Given the description of an element on the screen output the (x, y) to click on. 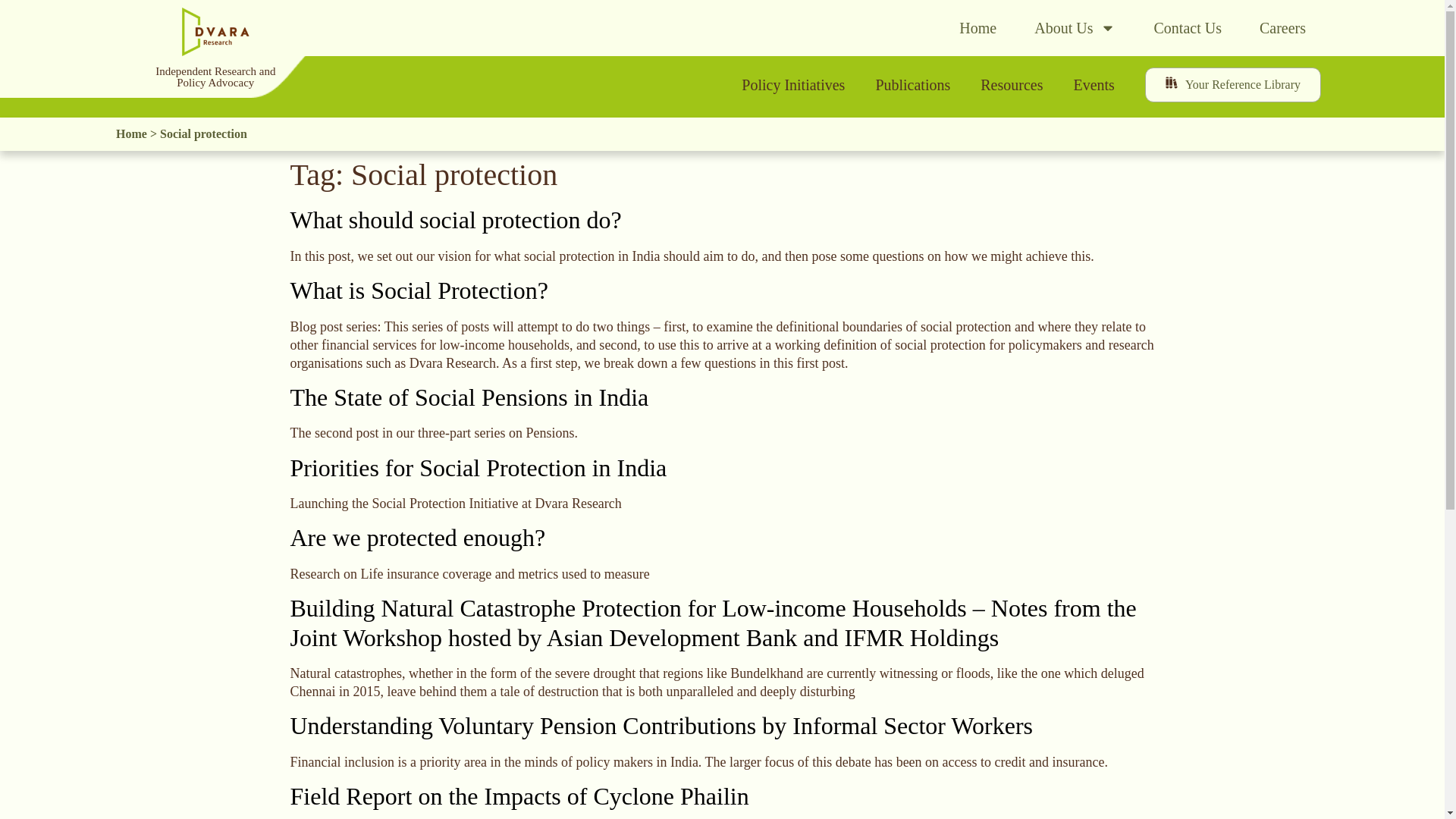
Independent Research and Policy Advocacy (215, 76)
Home (977, 27)
Careers (1282, 27)
Policy Initiatives (793, 84)
About Us (1075, 27)
Events (1093, 84)
Resources (1011, 84)
Publications (912, 84)
Your Reference Library (1232, 84)
Contact Us (1187, 27)
